Given the description of an element on the screen output the (x, y) to click on. 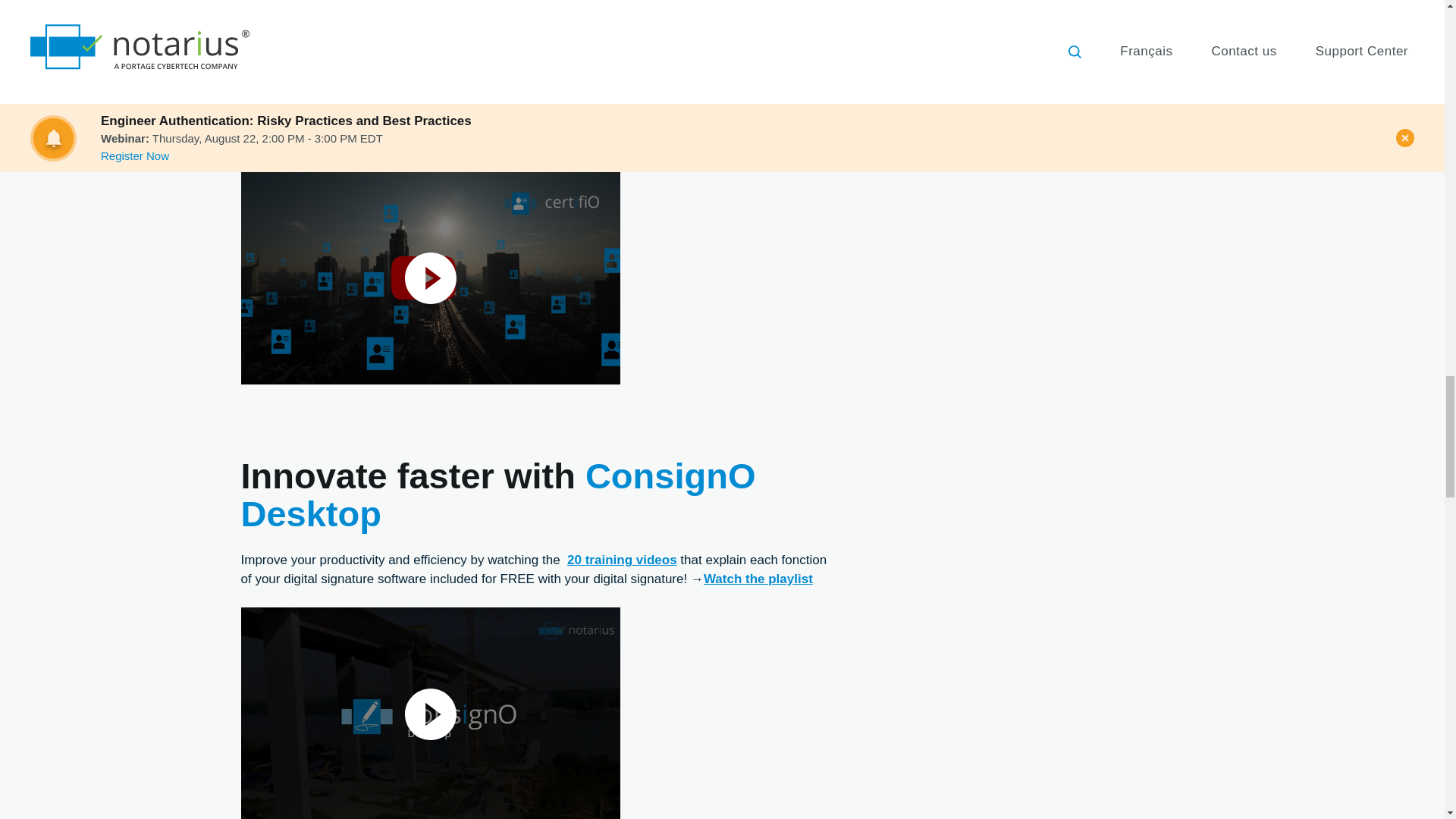
Watch the playlist (757, 578)
20 training videos (622, 559)
Find out why. (695, 142)
